Given the description of an element on the screen output the (x, y) to click on. 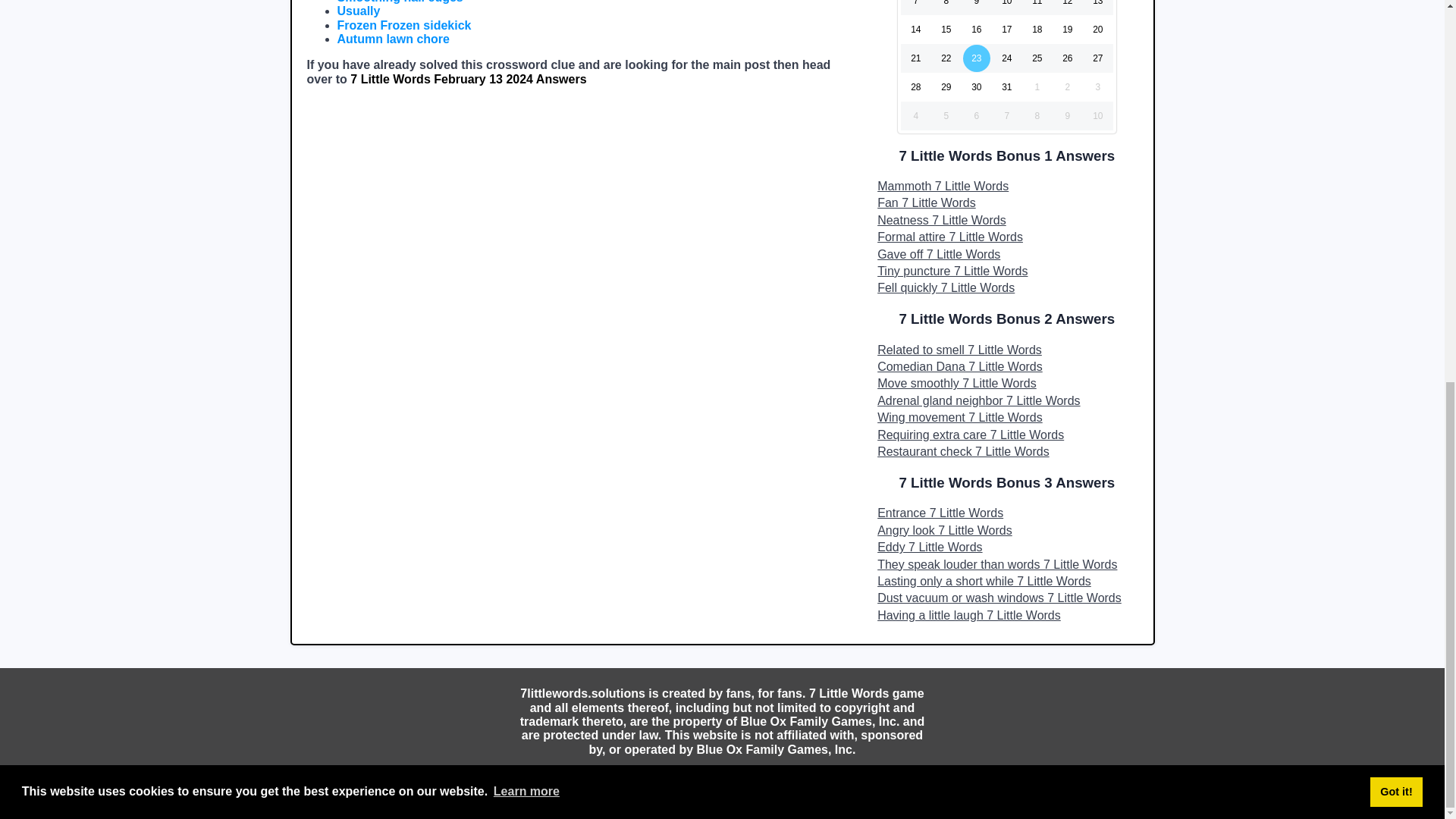
Neatness 7 Little Words (1006, 220)
7LittleWords.Solutions (722, 778)
7 Little Words February 13 2024 Answers (468, 78)
Adrenal gland neighbor 7 Little Words (1006, 401)
Requiring extra care 7 Little Words (1006, 434)
Dust vacuum or wash windows 7 Little Words (1006, 597)
Got it! (1396, 78)
Fell quickly 7 Little Words (1006, 288)
Related to smell 7 Little Words (1006, 350)
Autumn lawn chore (392, 38)
Having a little laugh 7 Little Words (1006, 615)
Mammoth 7 Little Words (1006, 186)
Eddy 7 Little Words (1006, 547)
Lasting only a short while 7 Little Words (1006, 581)
Learn more (527, 77)
